Given the description of an element on the screen output the (x, y) to click on. 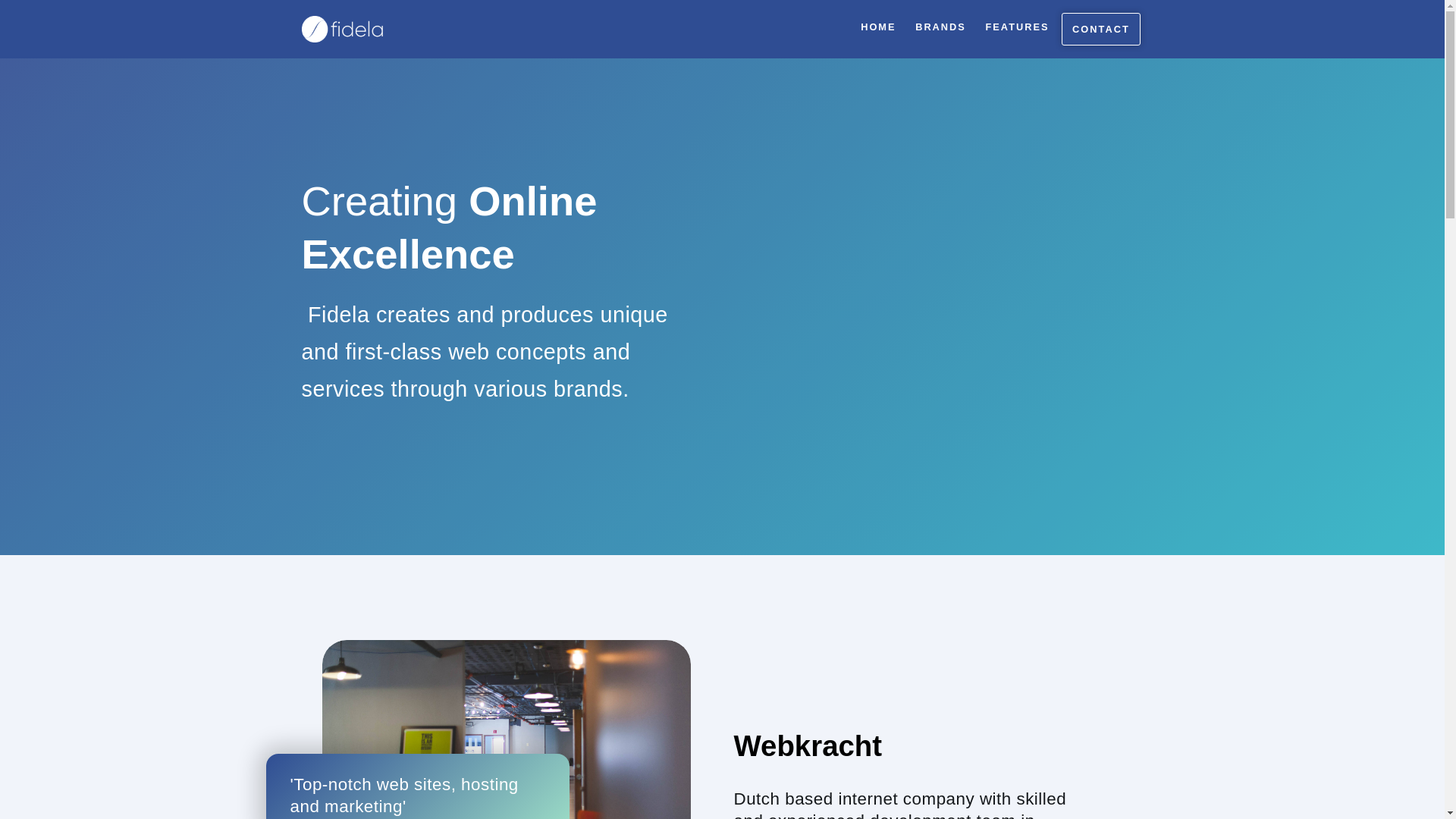
BRANDS (940, 27)
HOME (877, 27)
CONTACT (1100, 29)
FEATURES (1016, 27)
